Given the description of an element on the screen output the (x, y) to click on. 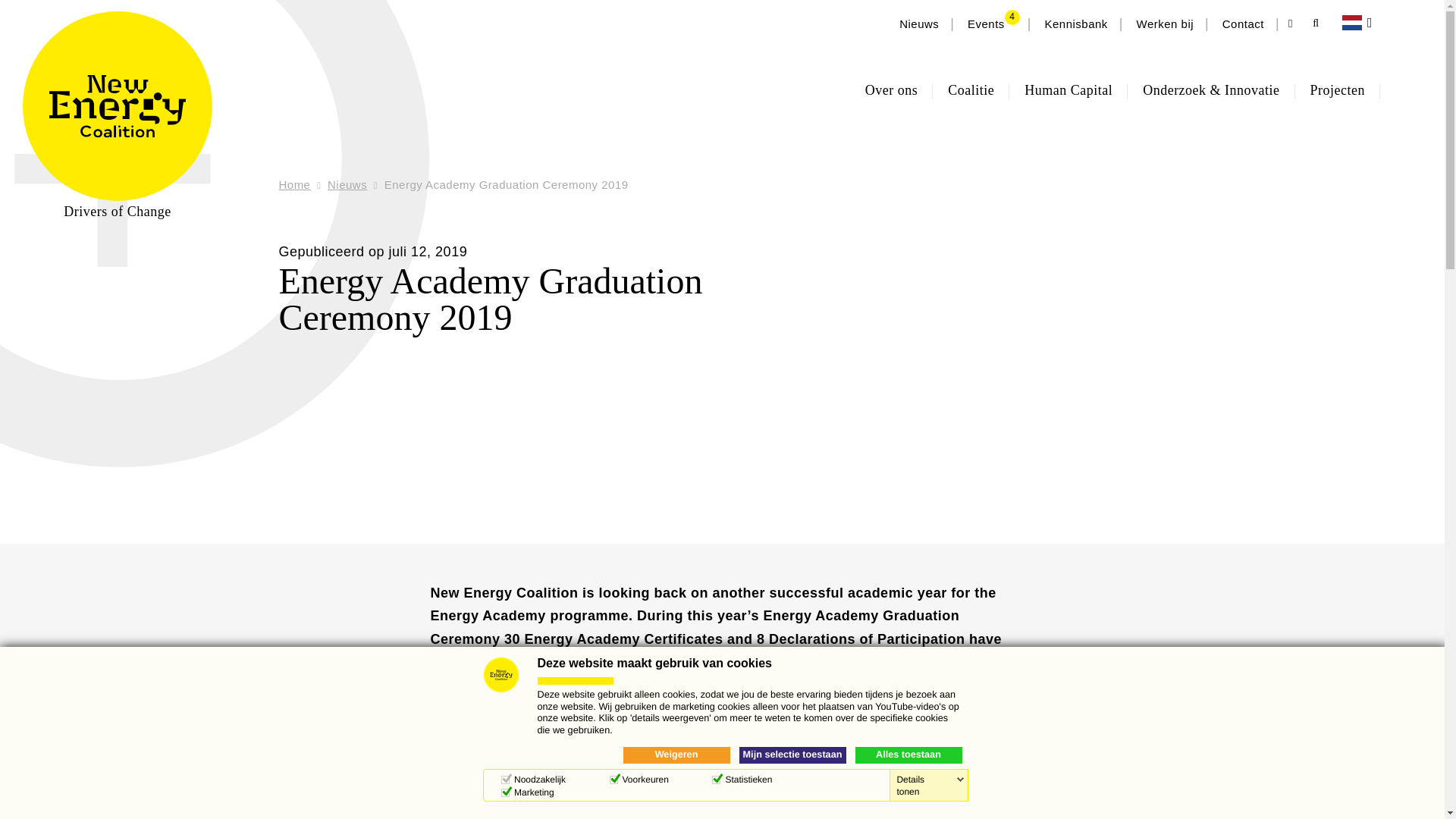
Weigeren (676, 754)
Details tonen (929, 785)
Alles toestaan (909, 754)
Mijn selectie toestaan (791, 754)
